Given the description of an element on the screen output the (x, y) to click on. 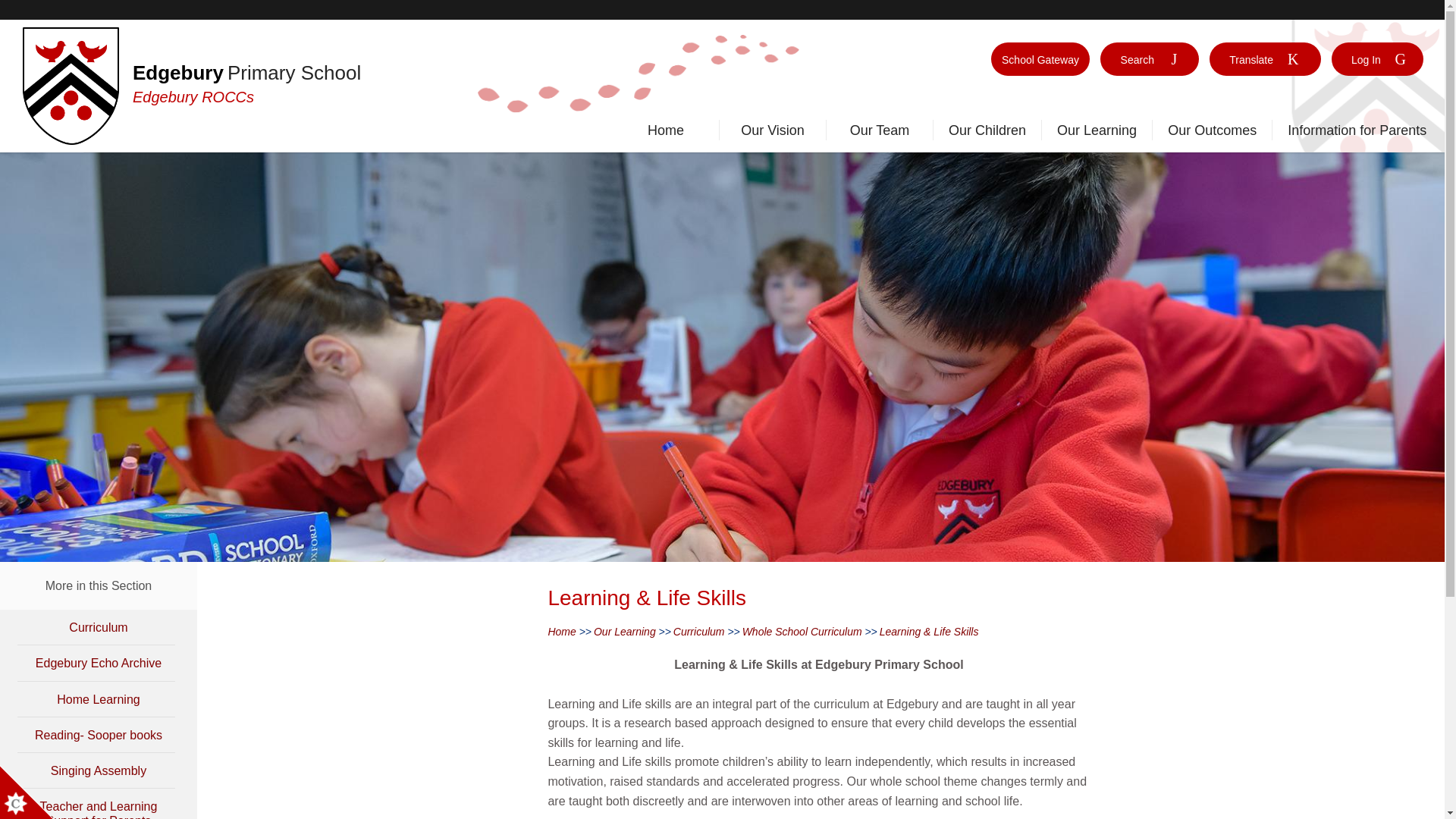
Our Vision (772, 133)
Our Team (879, 133)
Home (665, 133)
Our Children (987, 133)
